Given the description of an element on the screen output the (x, y) to click on. 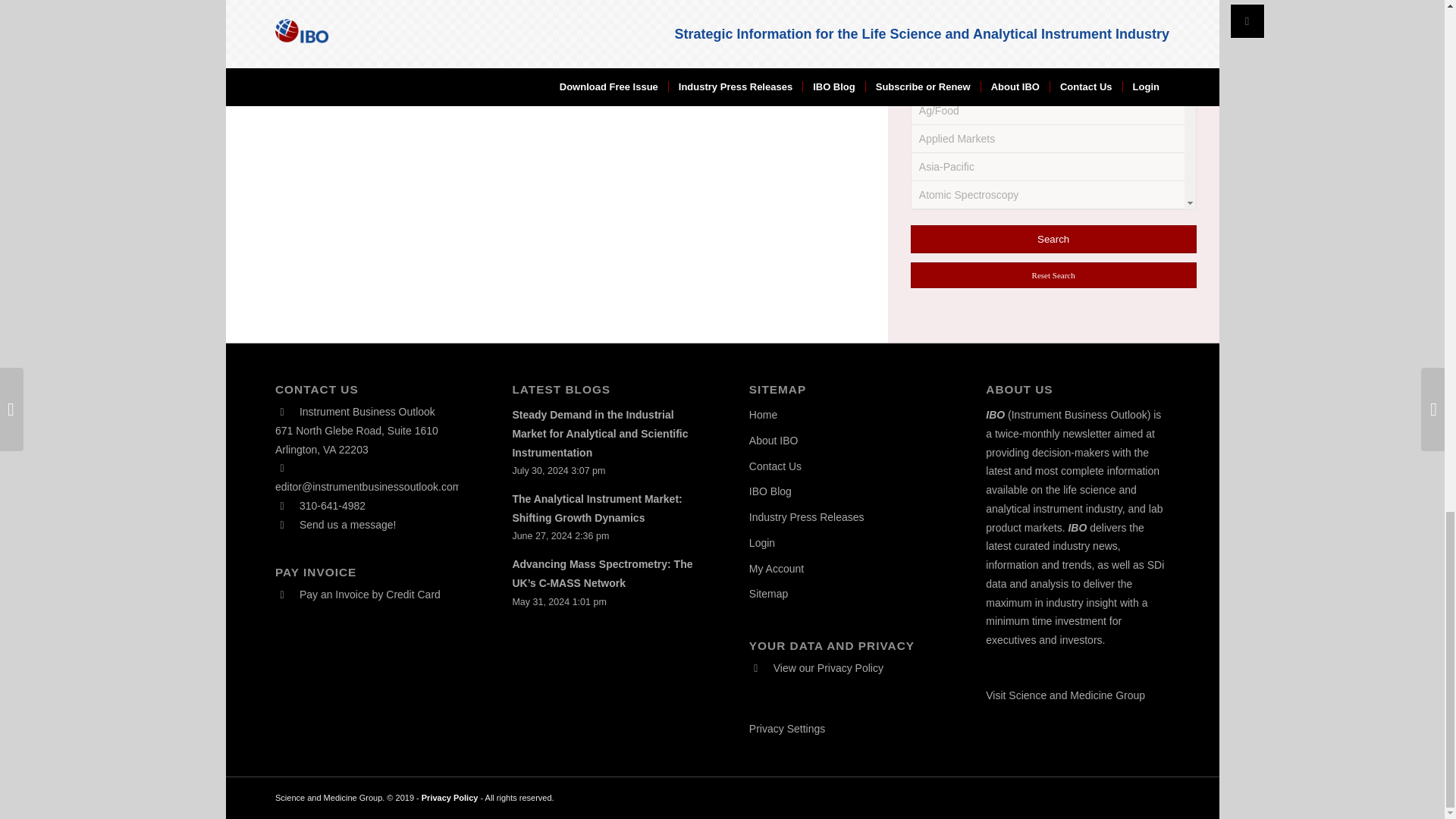
general-laboratory-productsconsumableslife-sciencegene-based (929, 322)
general-laboratory-products (938, 126)
The Analytical Instrument Market: Shifting Growth Dynamics (596, 508)
chromatography-and-mass-spectrometryroutine-ms (929, 29)
general-laboratory-productsconsumables (929, 157)
